Given the description of an element on the screen output the (x, y) to click on. 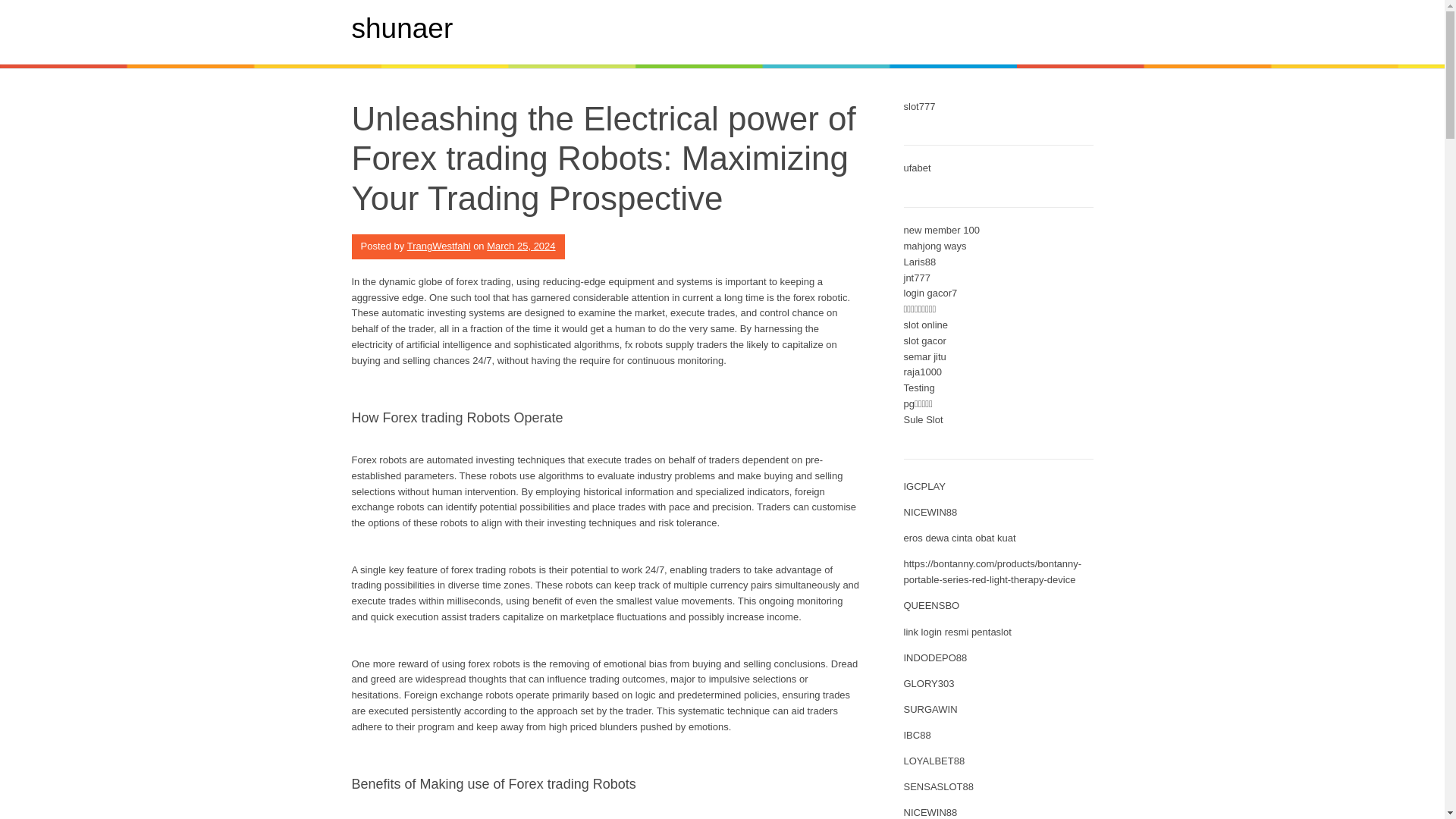
raja1000 (923, 371)
NICEWIN88 (931, 812)
slot777 (920, 106)
LOYALBET88 (934, 760)
slot online (926, 324)
QUEENSBO (931, 604)
ufabet (917, 167)
link login resmi pentaslot (957, 632)
SURGAWIN (931, 708)
mahjong ways (935, 245)
IBC88 (917, 735)
INDODEPO88 (936, 657)
Sule Slot (923, 419)
March 25, 2024 (520, 245)
semar jitu (925, 356)
